Given the description of an element on the screen output the (x, y) to click on. 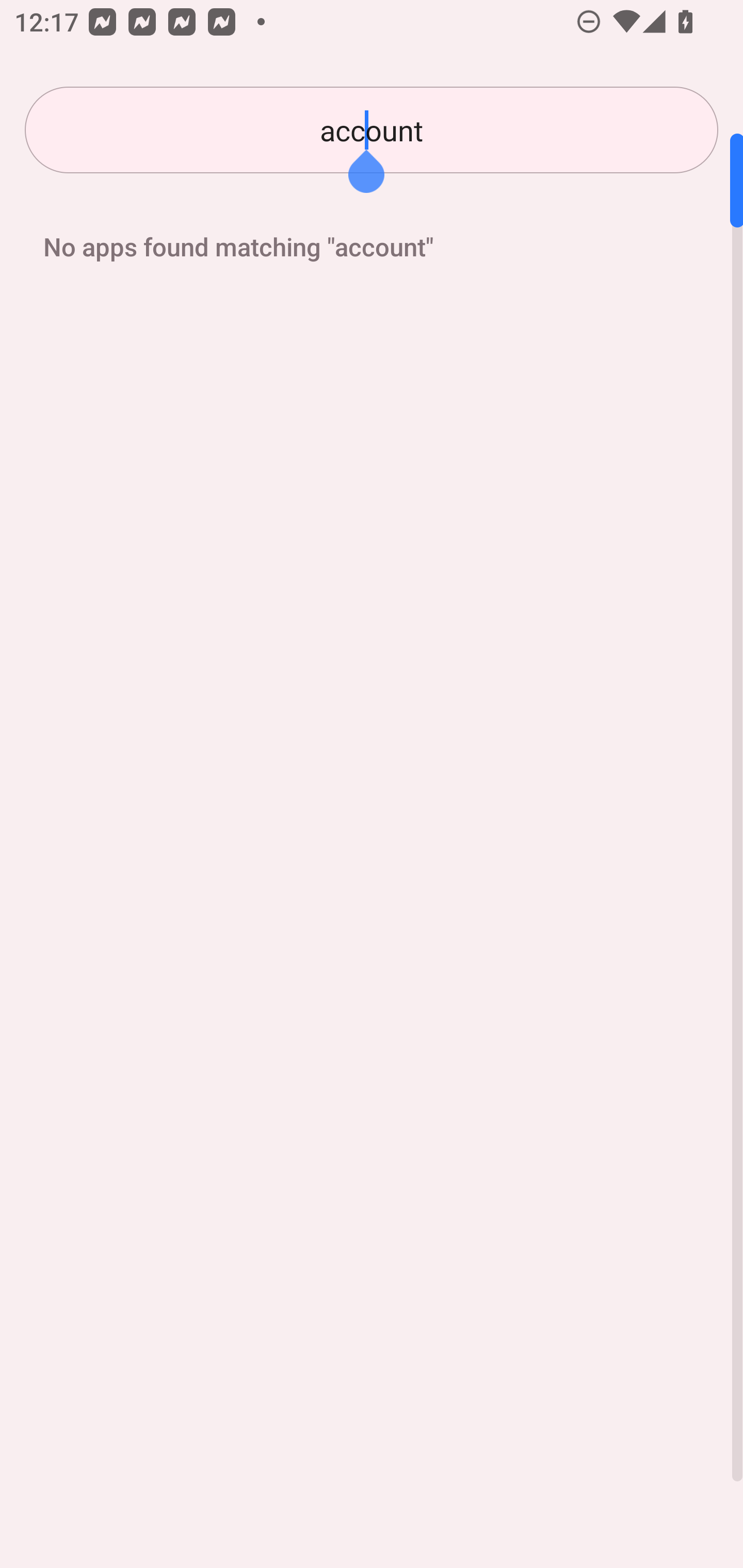
account (371, 130)
